Given the description of an element on the screen output the (x, y) to click on. 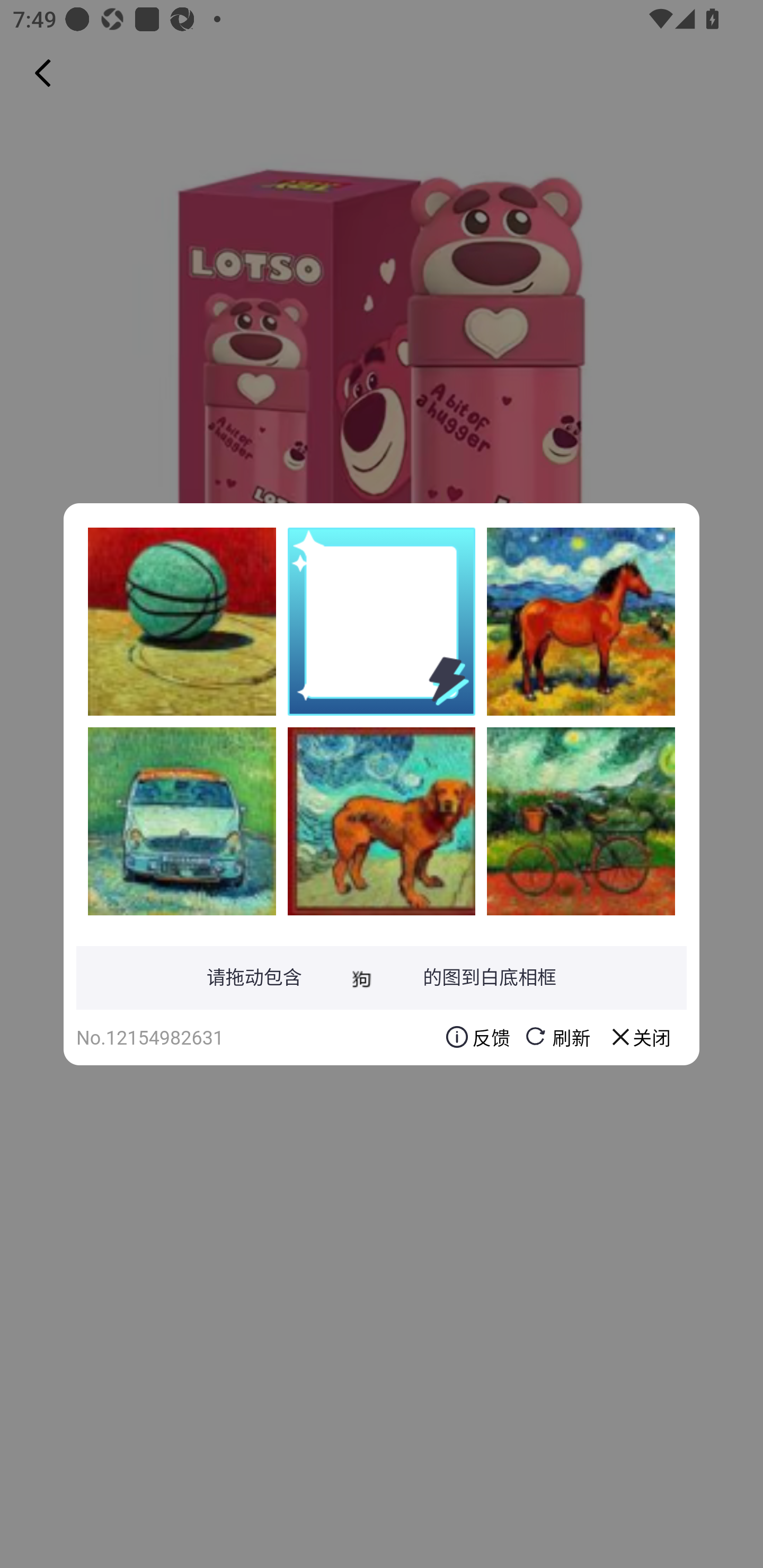
cQwYLrmR (181, 621)
u2PP (181, 820)
